Given the description of an element on the screen output the (x, y) to click on. 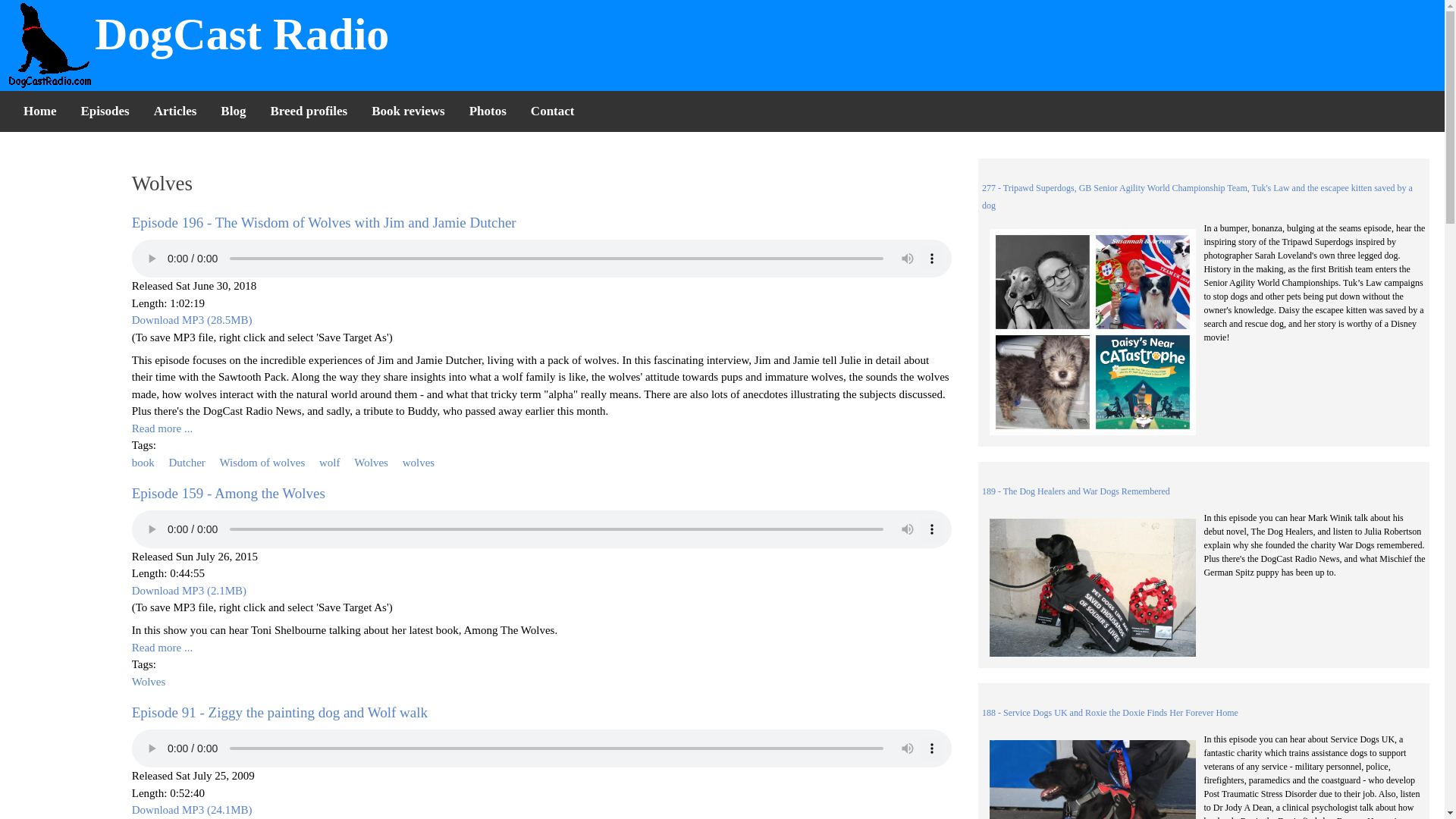
Photos (487, 110)
Episodes (104, 110)
wolves (419, 462)
Blog (232, 110)
Wolves (148, 681)
Episode 159 - Among the Wolves (228, 493)
Read more ... (162, 647)
Breed profiles (308, 110)
Dutcher (186, 462)
Wolves (370, 462)
wolf (329, 462)
Home (39, 110)
Articles (175, 110)
Book reviews (408, 110)
